Given the description of an element on the screen output the (x, y) to click on. 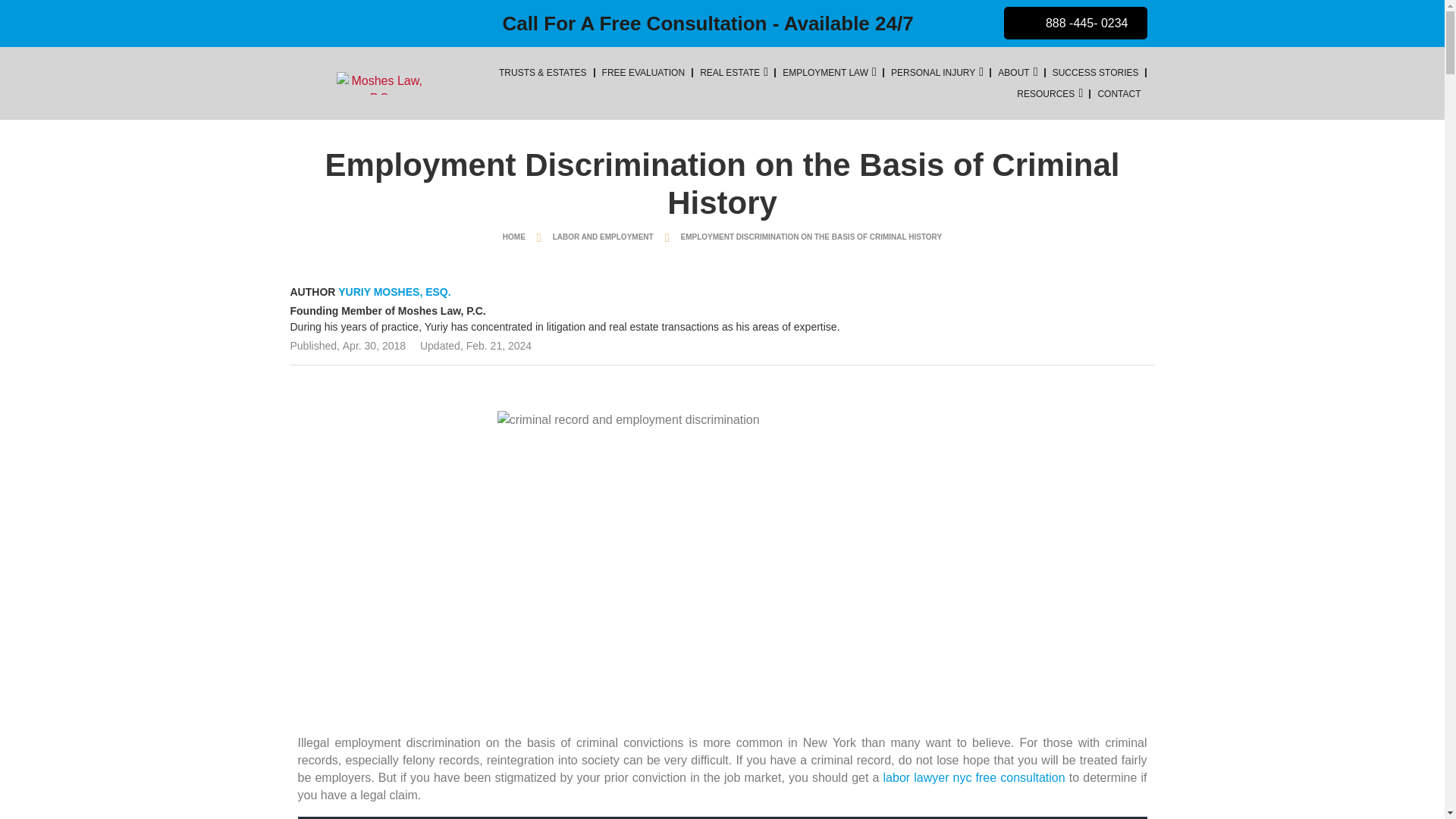
EMPLOYMENT LAW (825, 72)
FREE EVALUATION (643, 72)
888 -445- 0234 (1075, 22)
CONTACT (1118, 93)
PERSONAL INJURY (933, 72)
RESOURCES (1045, 93)
ABOUT (1013, 72)
SUCCESS STORIES (1095, 72)
REAL ESTATE (729, 72)
